Given the description of an element on the screen output the (x, y) to click on. 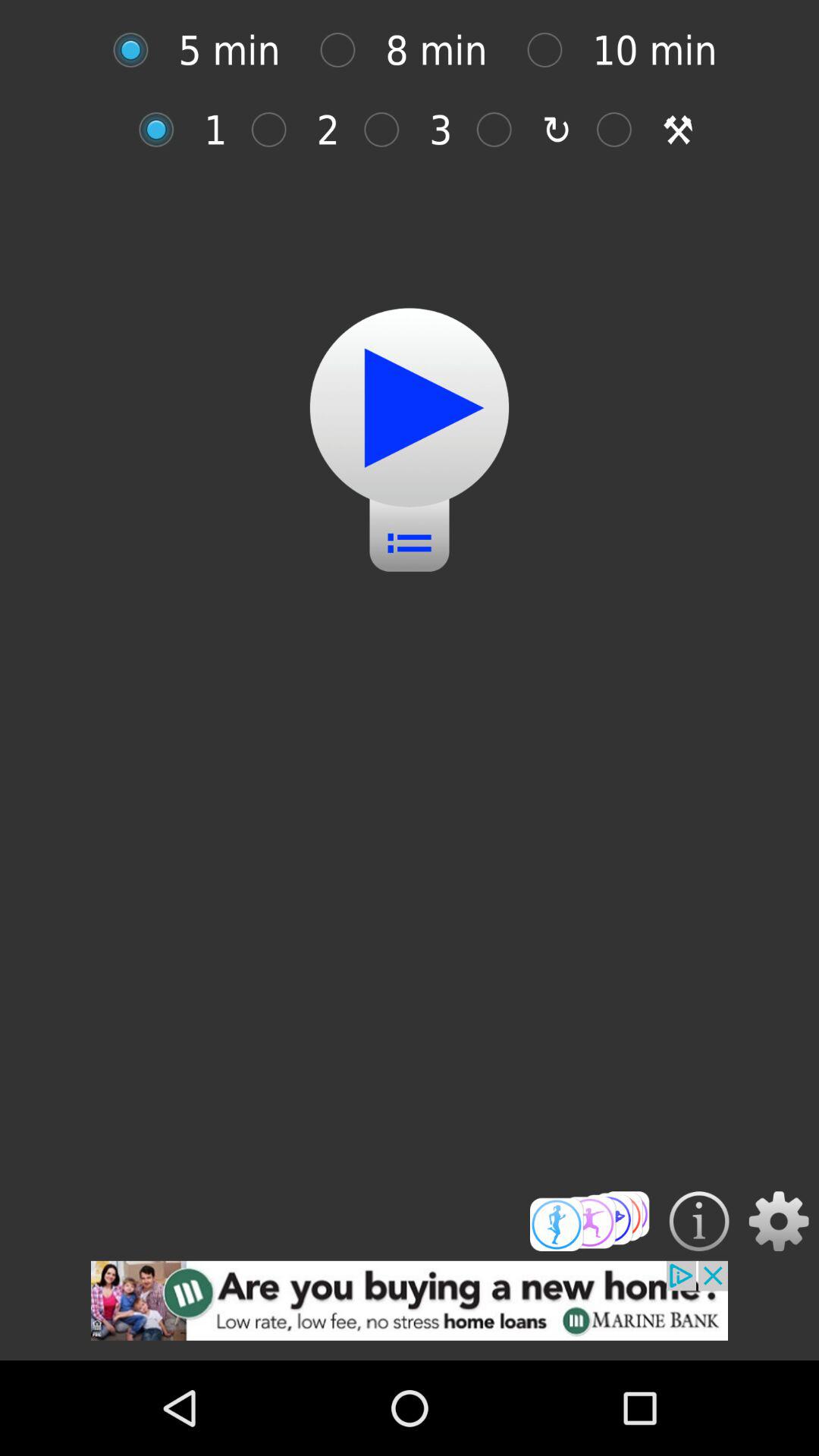
click to third option (502, 129)
